Given the description of an element on the screen output the (x, y) to click on. 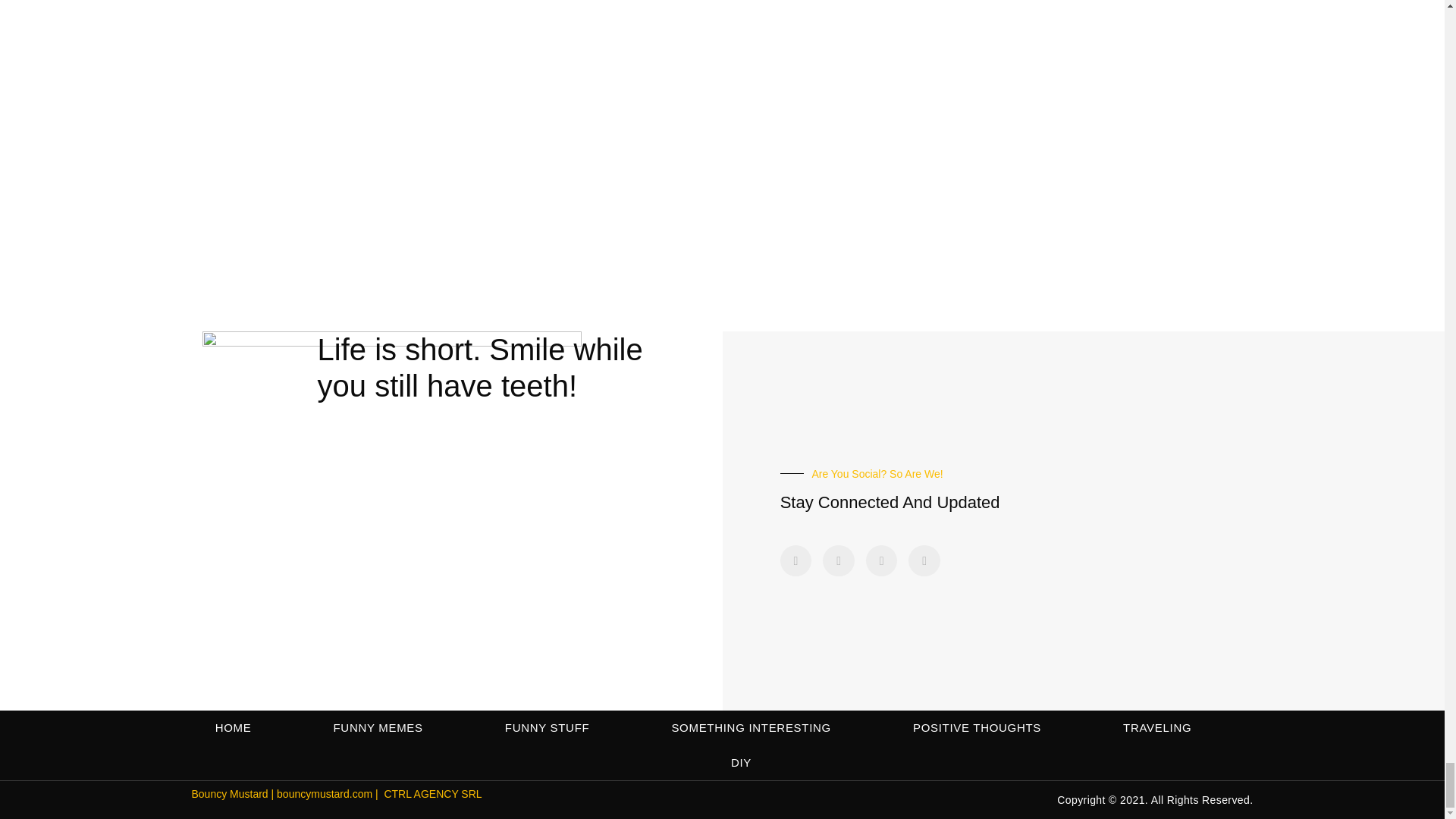
SOMETHING INTERESTING (751, 727)
FUNNY STUFF (547, 727)
Life is short. Smile while you still have teeth! (480, 367)
POSITIVE THOUGHTS (976, 727)
FUNNY MEMES (378, 727)
HOME (233, 727)
